Given the description of an element on the screen output the (x, y) to click on. 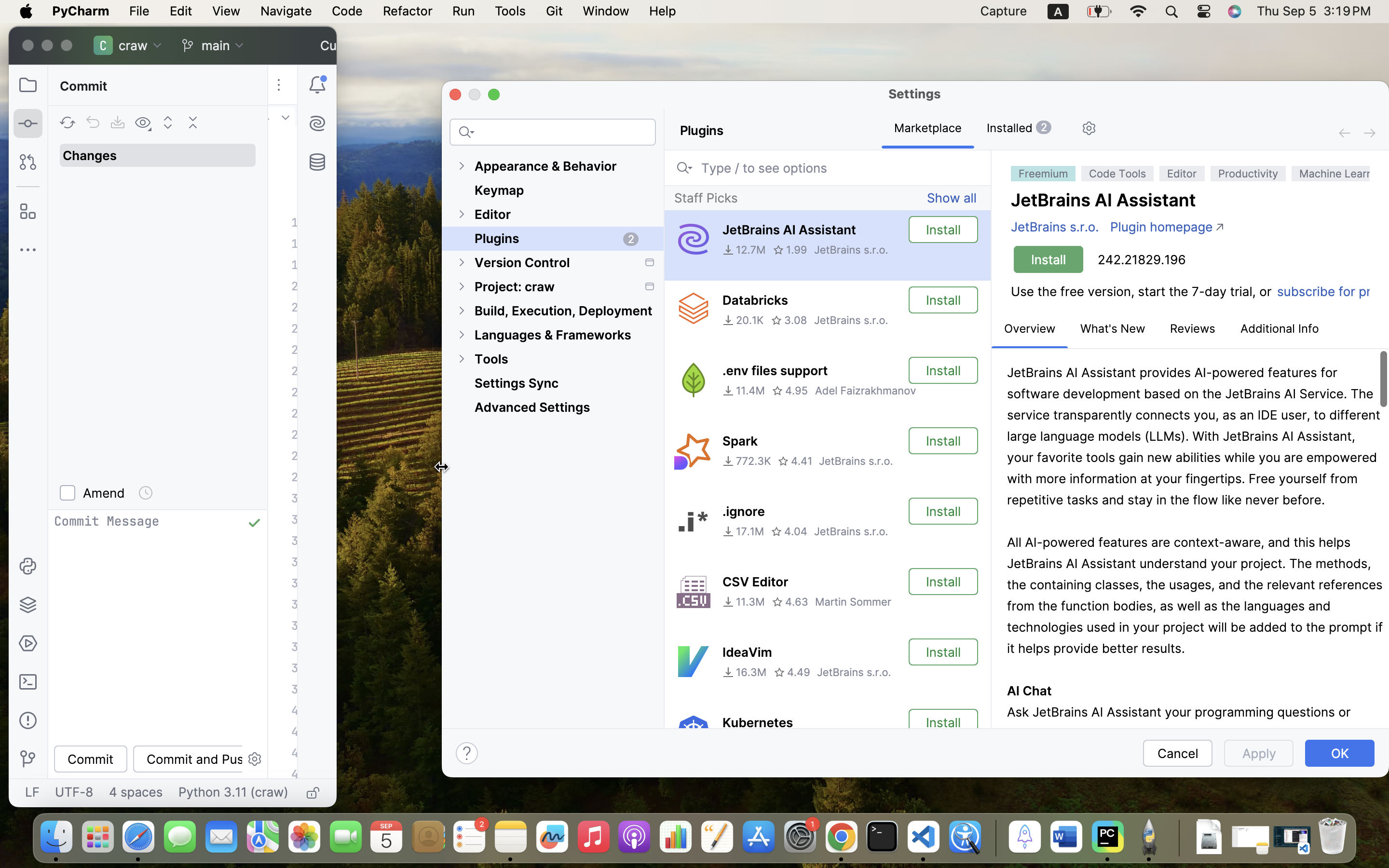
12.7M Element type: AXStaticText (743, 249)
17.1M Element type: AXStaticText (742, 531)
3.08 Element type: AXStaticText (788, 319)
772.3K Element type: AXStaticText (746, 460)
<AXUIElement 0x12bf361a0> {pid=3432} Element type: AXTabGroup (973, 128)
